Given the description of an element on the screen output the (x, y) to click on. 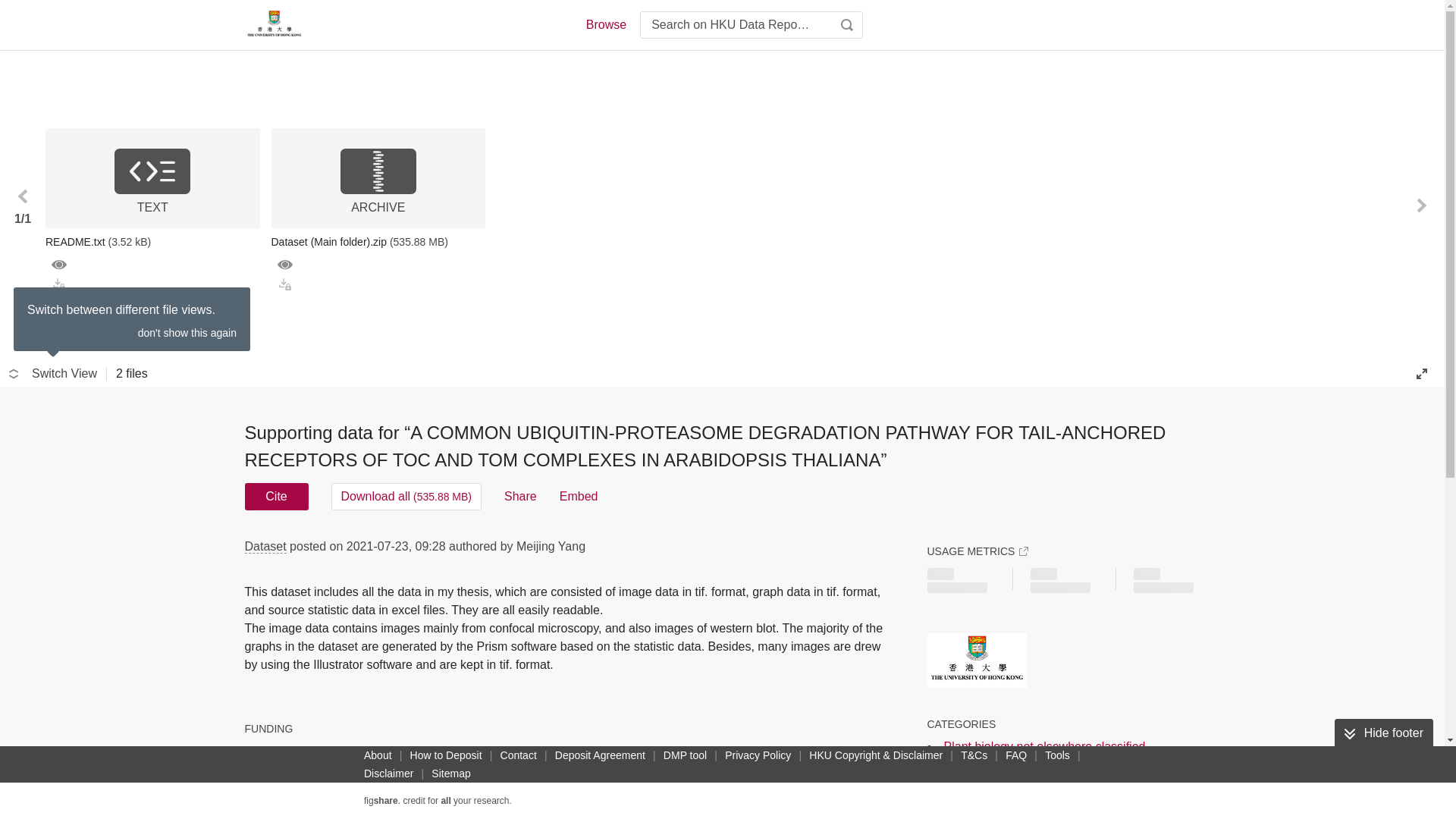
Hide footer (1383, 733)
USAGE METRICS (976, 551)
don't show this again (186, 332)
Embed (578, 496)
Browse (605, 24)
Switch View (52, 373)
README.txt (152, 241)
Plant cell and molecular biology (1028, 764)
Cite (275, 496)
Share (520, 496)
Plant biology not elsewhere classified (1043, 746)
